Given the description of an element on the screen output the (x, y) to click on. 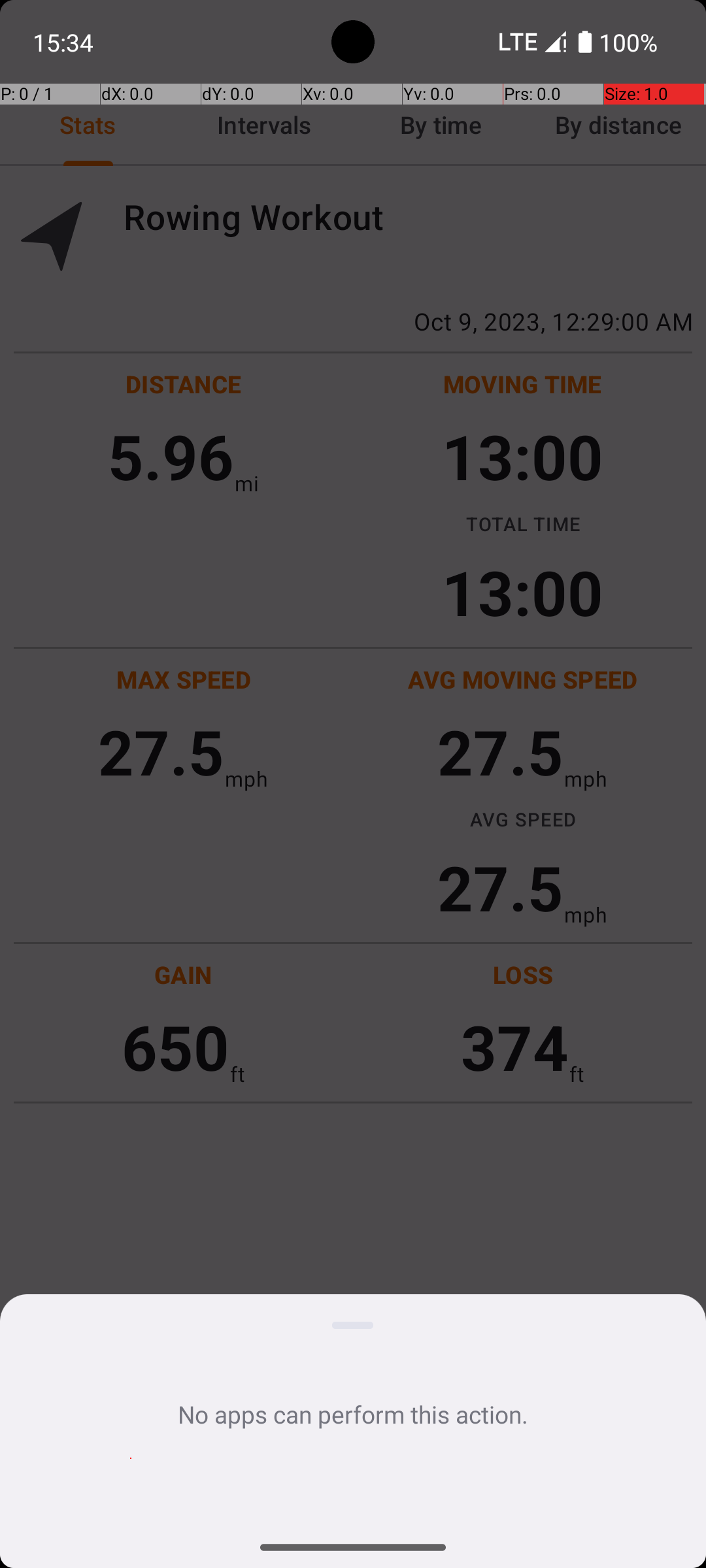
No apps can perform this action. Element type: android.widget.TextView (352, 1413)
